Given the description of an element on the screen output the (x, y) to click on. 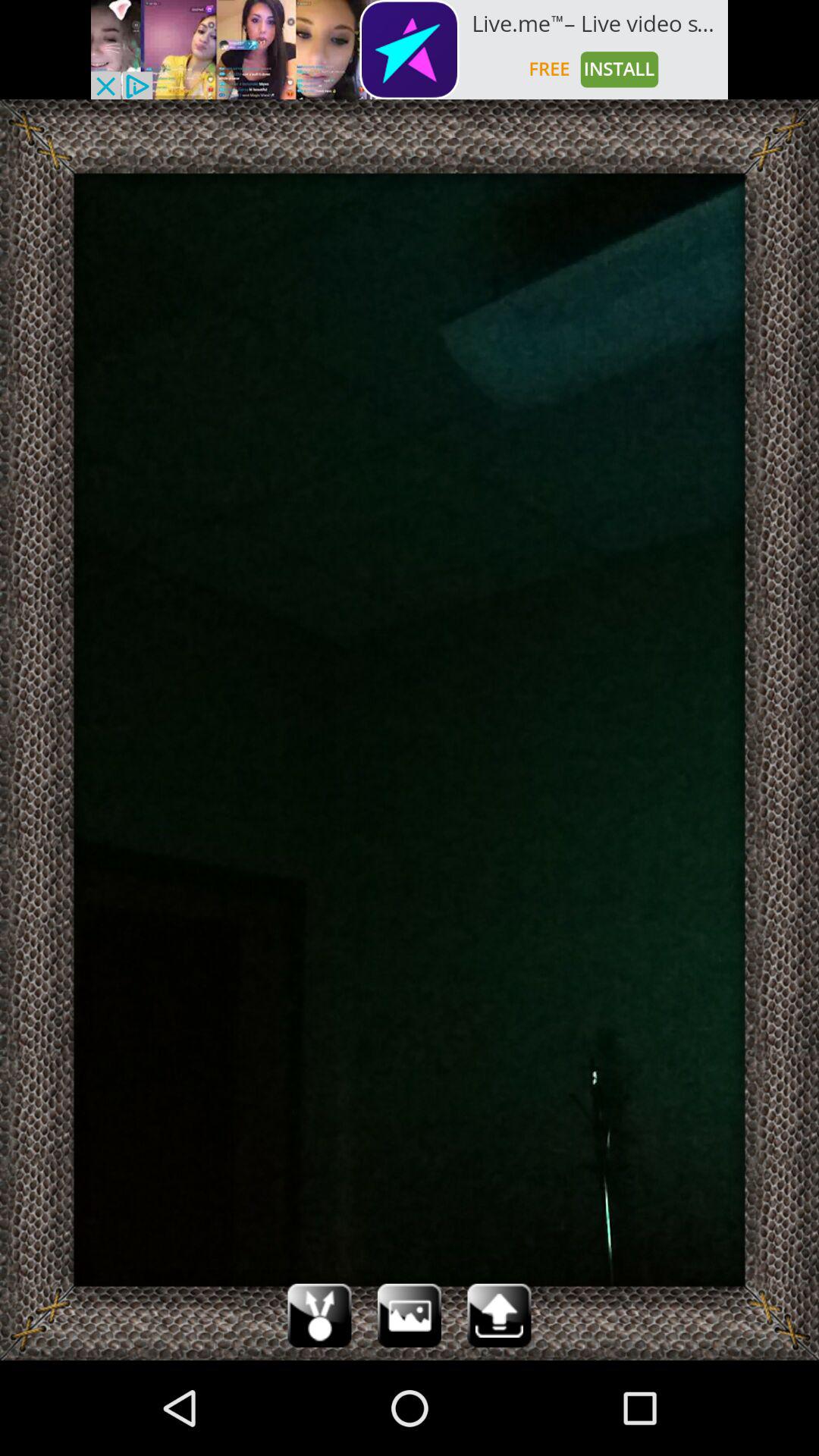
picture (409, 1315)
